Given the description of an element on the screen output the (x, y) to click on. 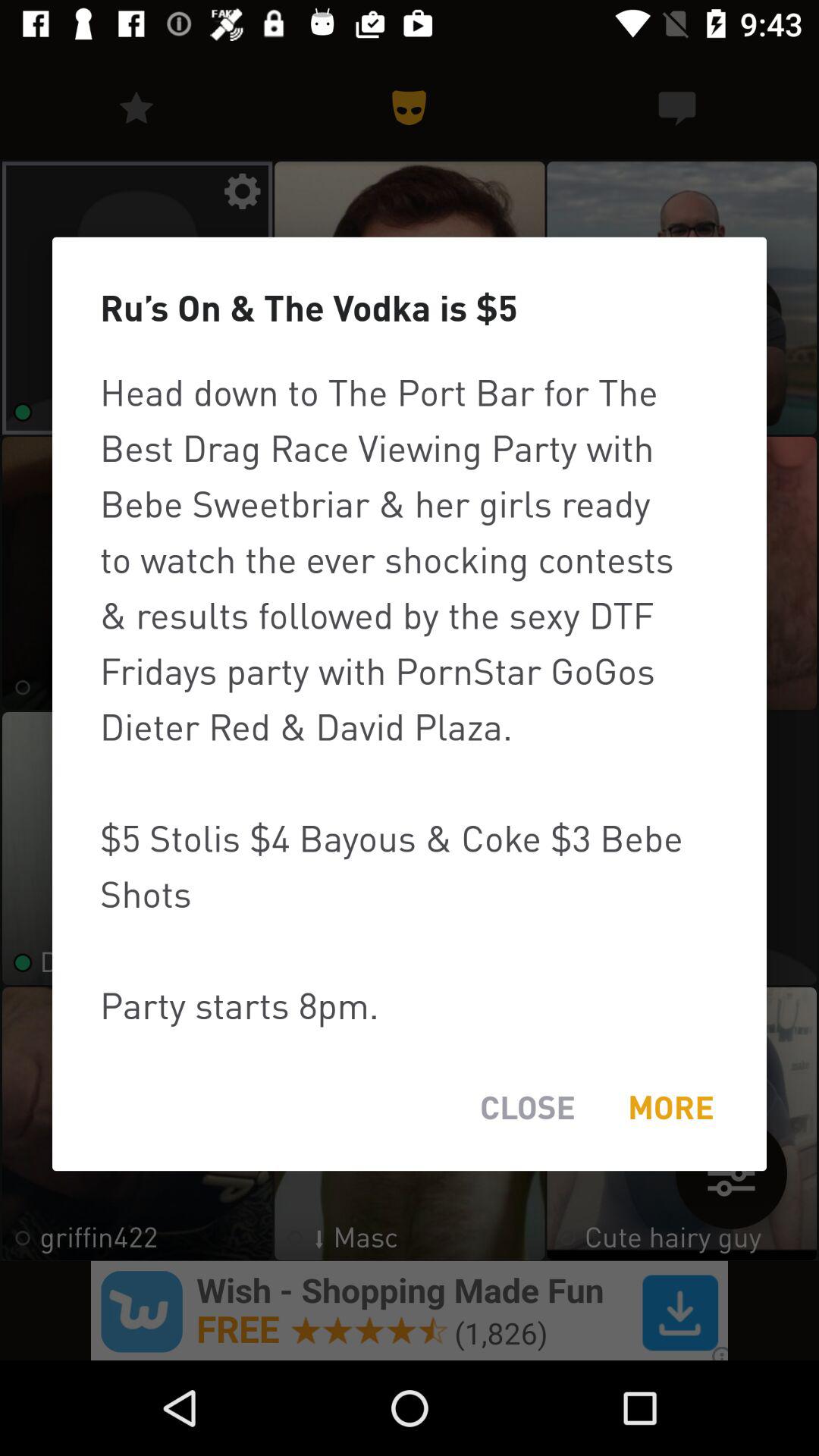
turn on more at the bottom right corner (670, 1107)
